Given the description of an element on the screen output the (x, y) to click on. 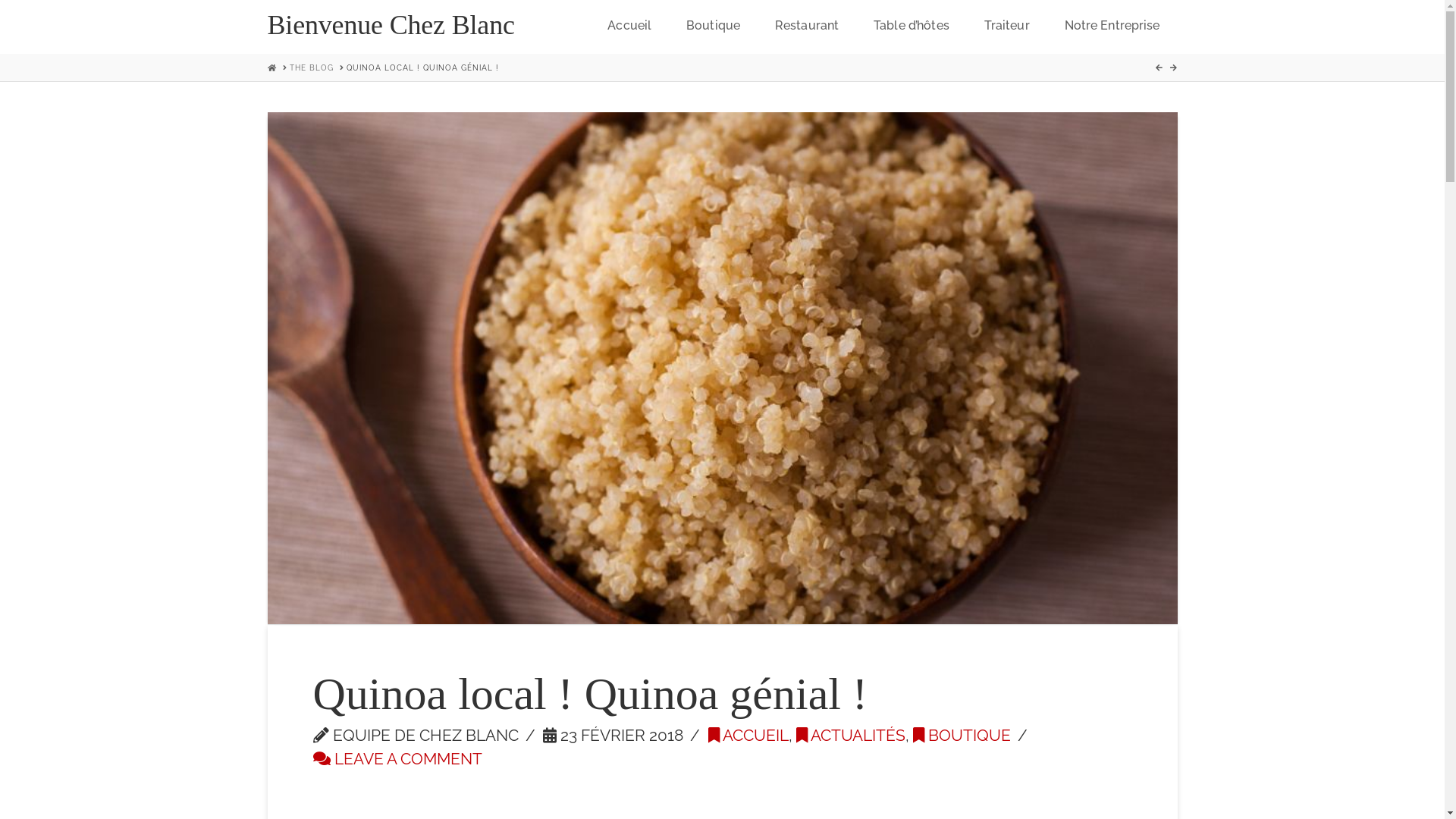
Traiteur Element type: text (1006, 26)
HOME Element type: text (271, 67)
THE BLOG Element type: text (311, 67)
ACCUEIL Element type: text (748, 735)
BOUTIQUE Element type: text (961, 735)
Bienvenue Chez Blanc Element type: text (390, 24)
Accueil Element type: text (628, 26)
LEAVE A COMMENT Element type: text (396, 758)
Notre Entreprise Element type: text (1112, 26)
Boutique Element type: text (712, 26)
Restaurant Element type: text (806, 26)
